Given the description of an element on the screen output the (x, y) to click on. 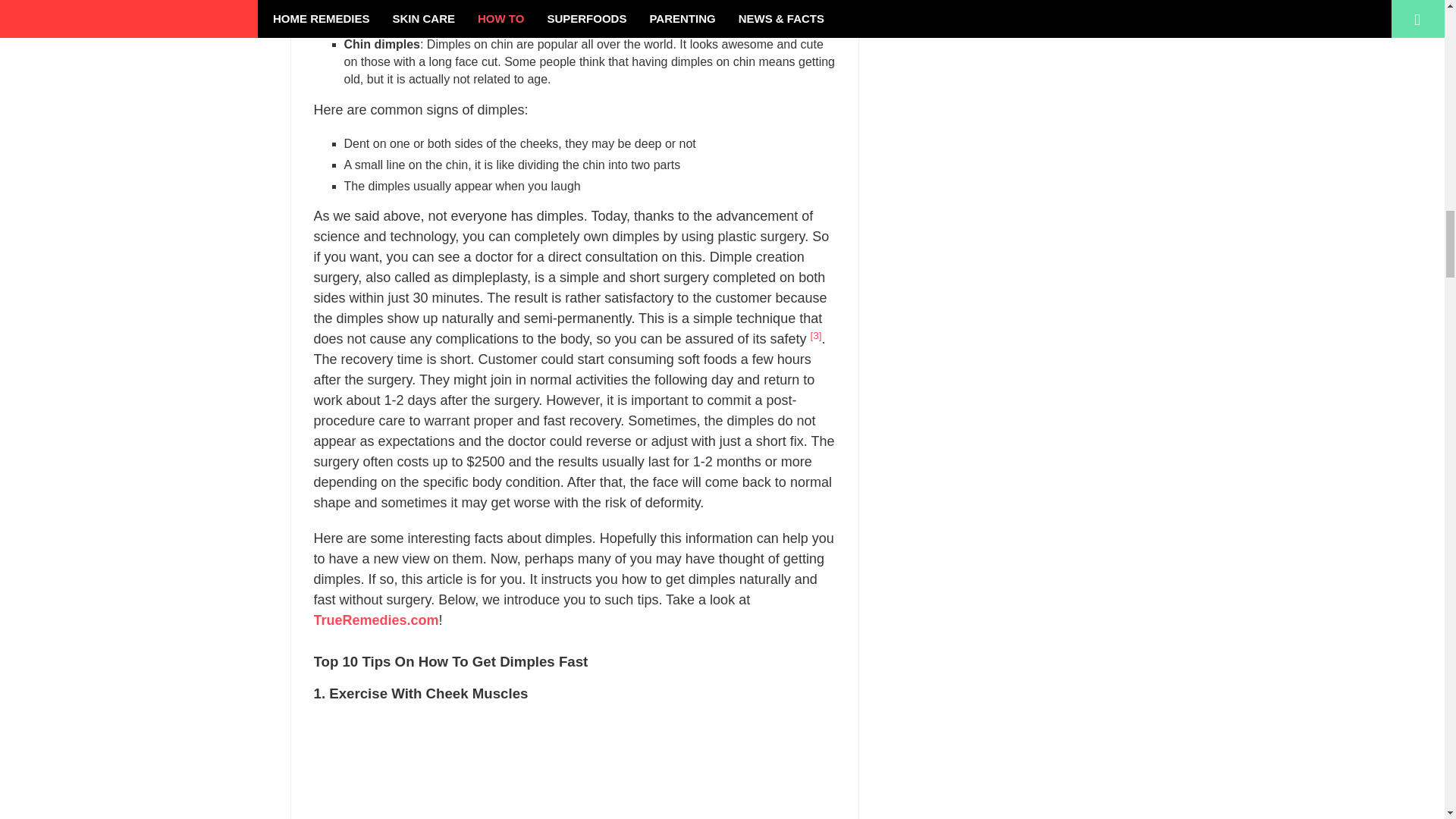
TrueRemedies.com (376, 620)
